Given the description of an element on the screen output the (x, y) to click on. 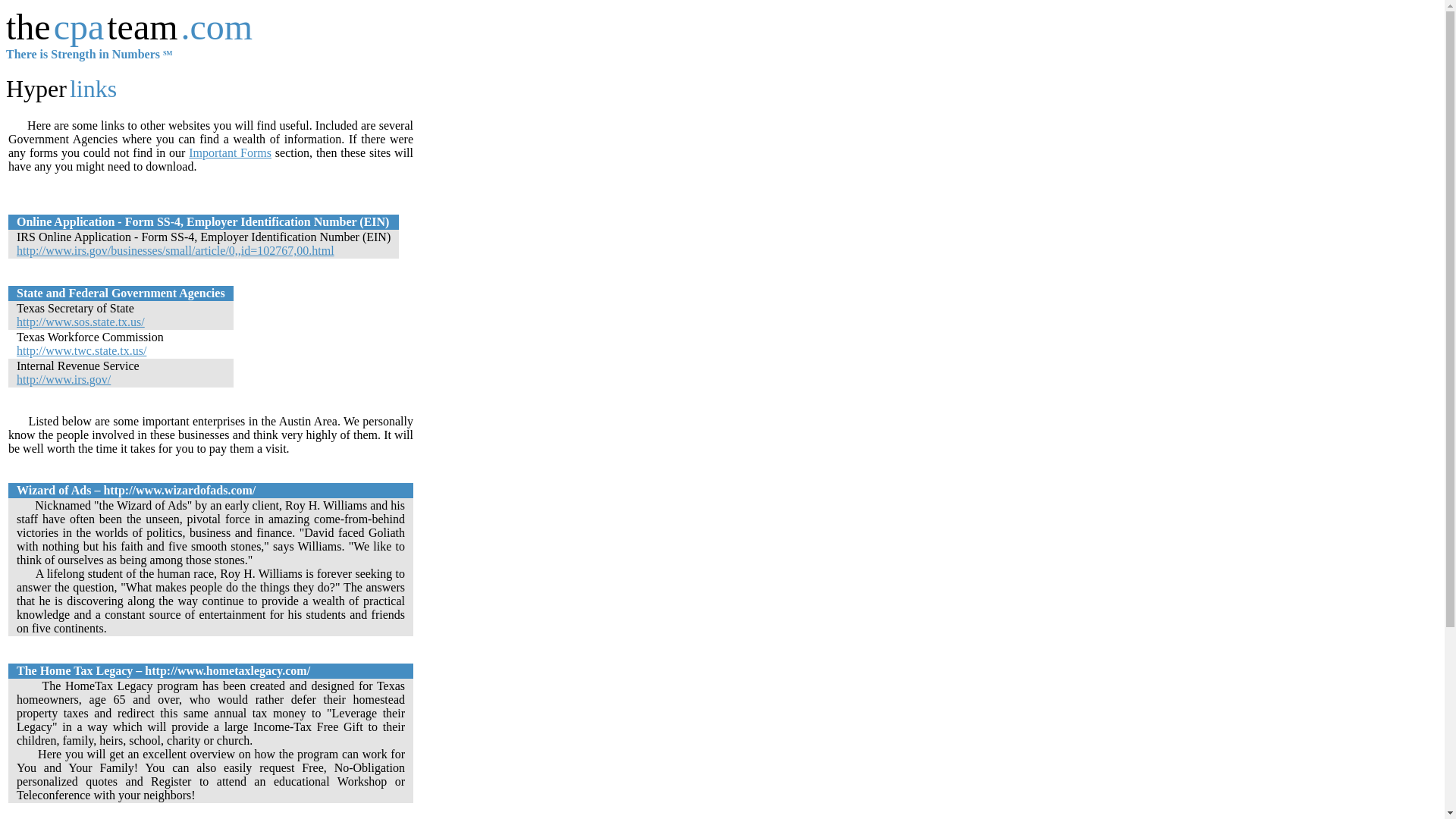
Important Forms (229, 152)
